Given the description of an element on the screen output the (x, y) to click on. 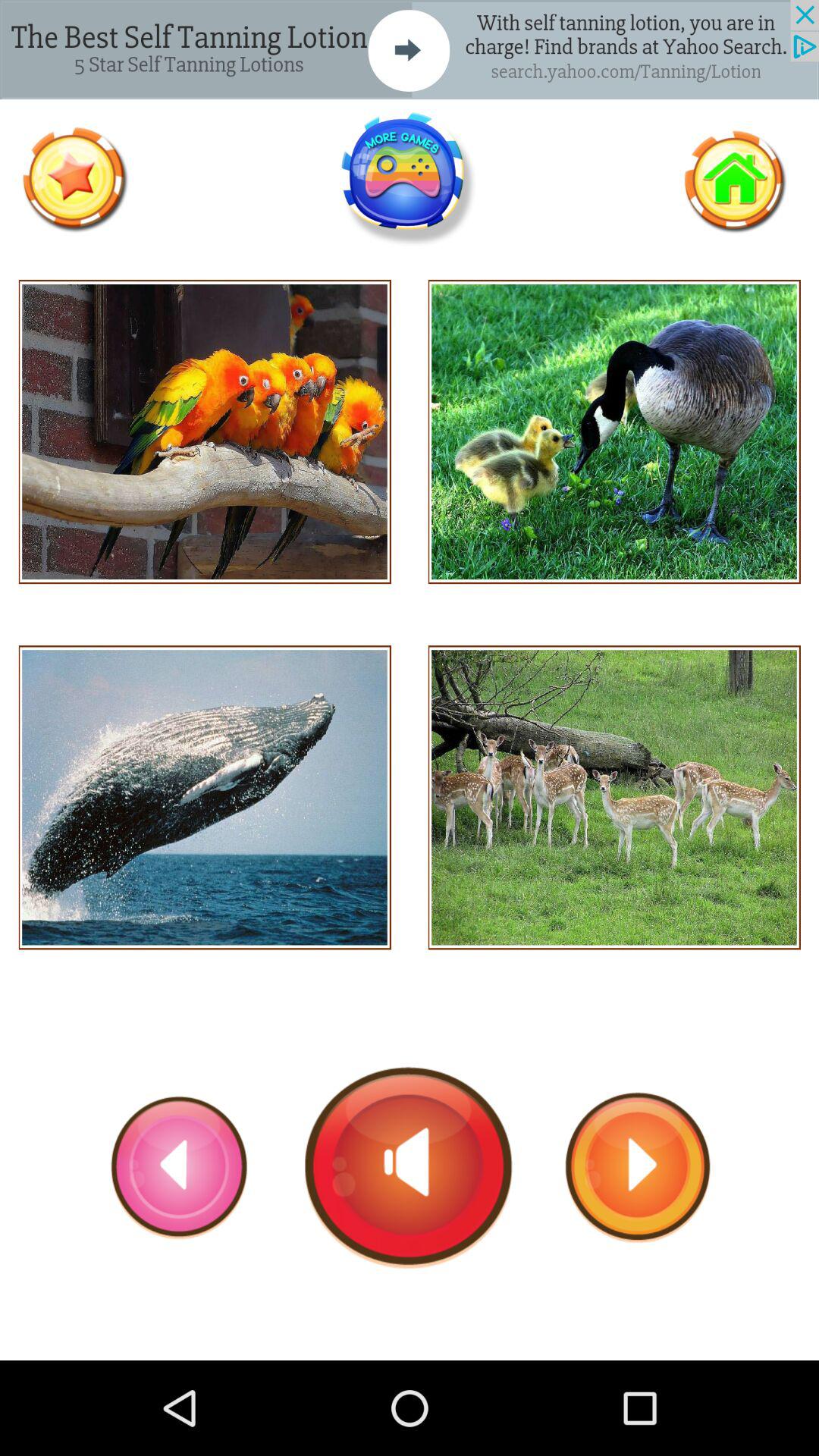
play (408, 1166)
